Given the description of an element on the screen output the (x, y) to click on. 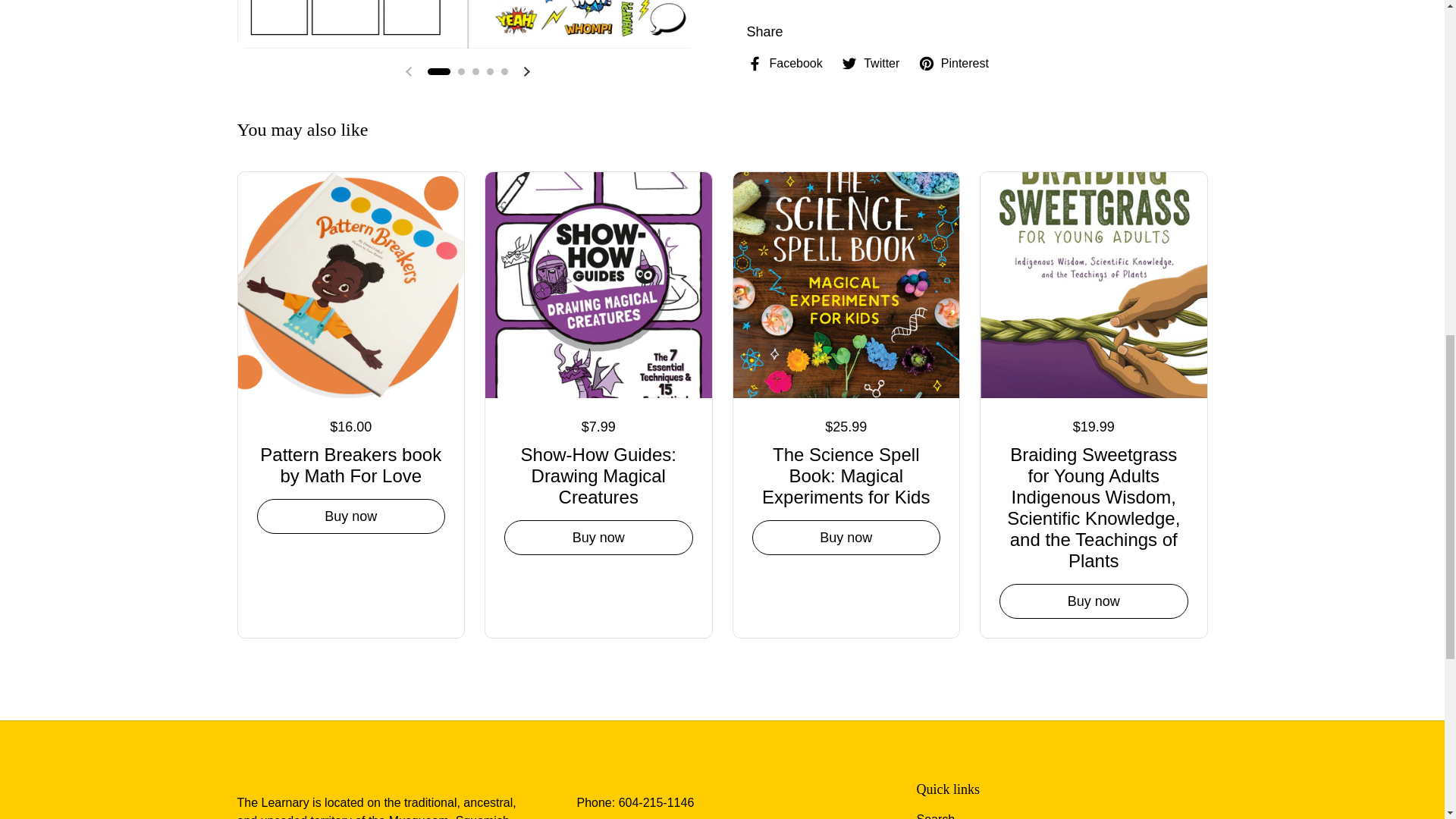
Pattern Breakers book by Math For Love (350, 462)
Share on facebook (783, 63)
Share on pinterest (953, 63)
Show-How Guides: Drawing Magical Creatures (598, 473)
The Science Spell Book: Magical Experiments for Kids (846, 473)
Share on twitter (870, 63)
